Given the description of an element on the screen output the (x, y) to click on. 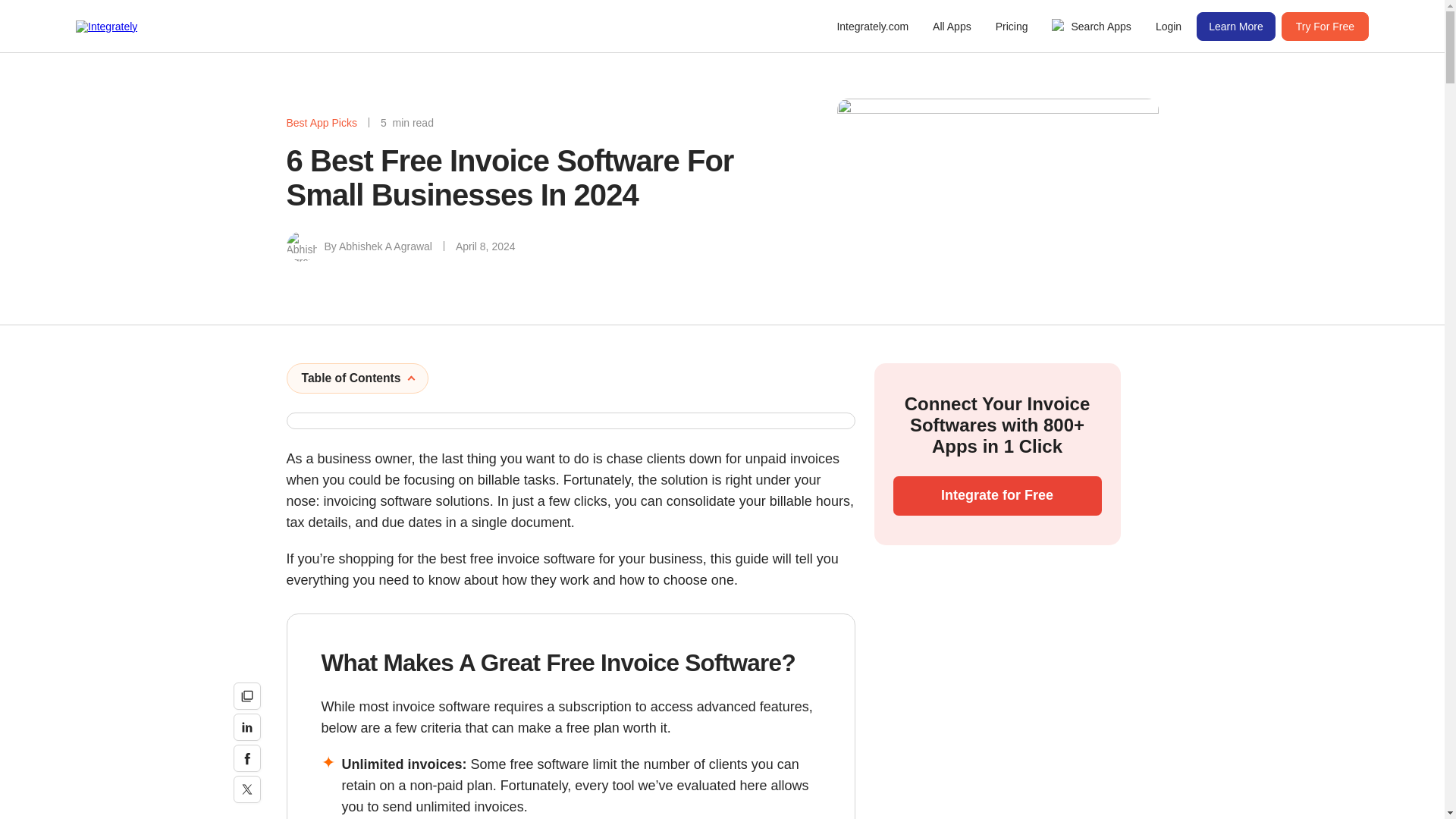
Share on Facebook (246, 758)
Integrately.com (872, 26)
All Apps (951, 26)
Pricing (1011, 26)
Login (1169, 26)
Share on Twitter (246, 789)
Share on Linkedin (246, 727)
Copy post link (246, 696)
Learn More (1235, 26)
Try For Free (1324, 26)
